Given the description of an element on the screen output the (x, y) to click on. 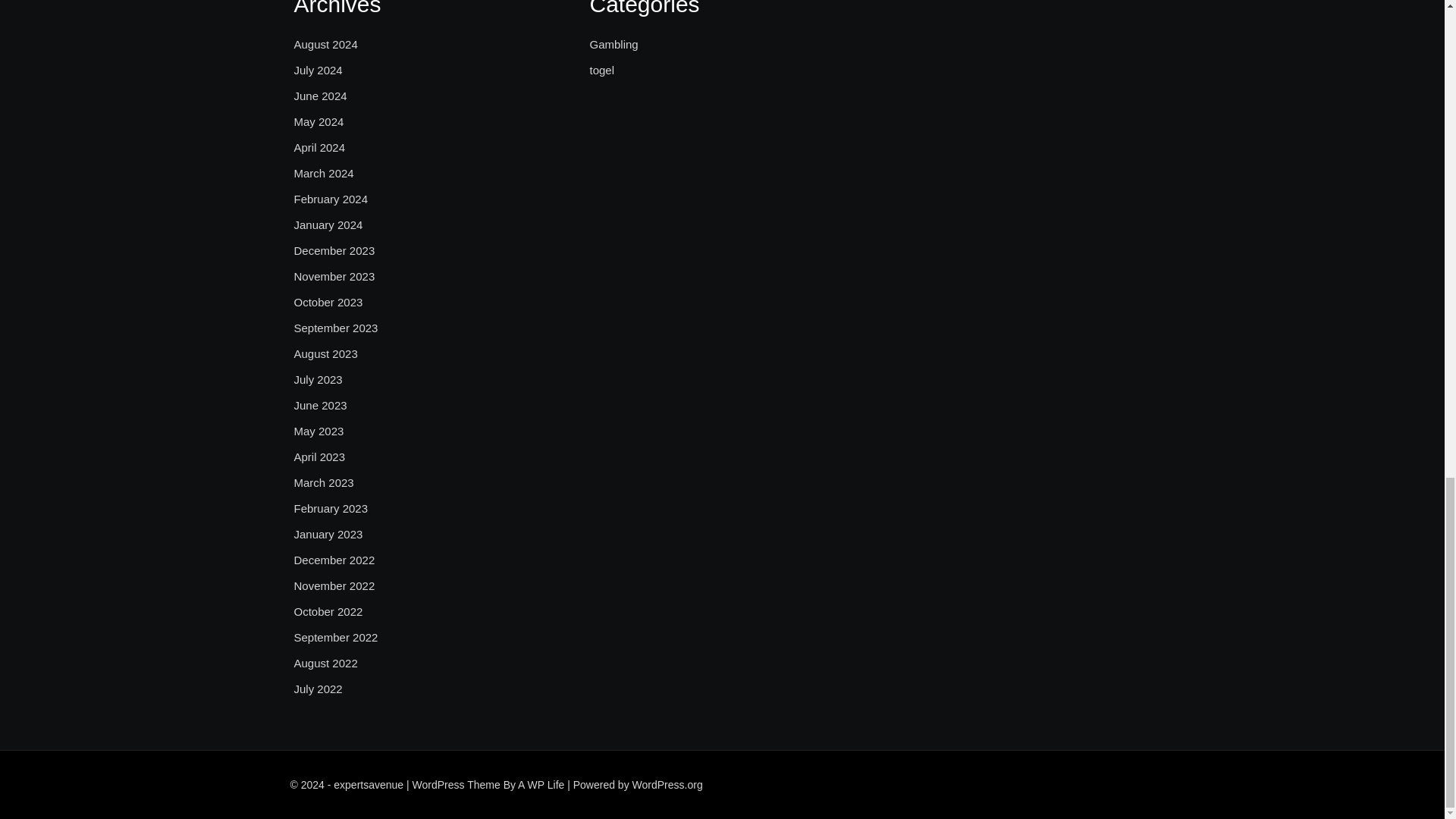
June 2023 (320, 405)
April 2024 (320, 147)
August 2024 (326, 45)
October 2022 (328, 611)
January 2023 (328, 534)
June 2024 (320, 95)
February 2023 (331, 508)
February 2024 (331, 199)
December 2023 (334, 250)
January 2024 (328, 225)
April 2023 (320, 456)
November 2022 (334, 586)
July 2023 (318, 380)
September 2023 (336, 328)
October 2023 (328, 302)
